Given the description of an element on the screen output the (x, y) to click on. 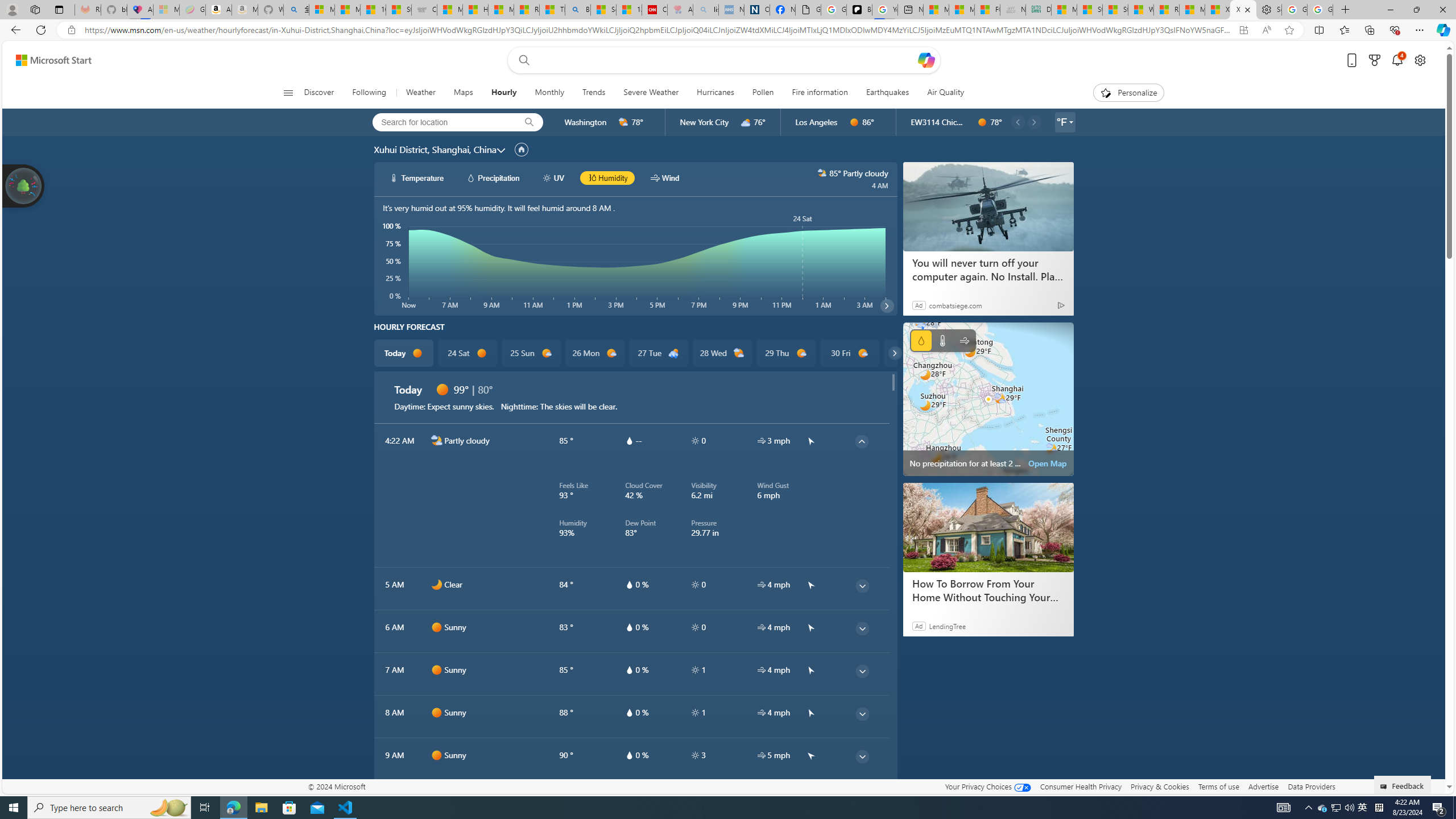
d0000 (436, 797)
Precipitation (920, 340)
Temperature (942, 340)
hourlyChart/humidityBlack Humidity (606, 178)
App available. Install Microsoft Start Weather (1243, 29)
Join us in planting real trees to help our planet! (23, 184)
Severe Weather (651, 92)
Join us in planting real trees to help our planet! (23, 185)
